Given the description of an element on the screen output the (x, y) to click on. 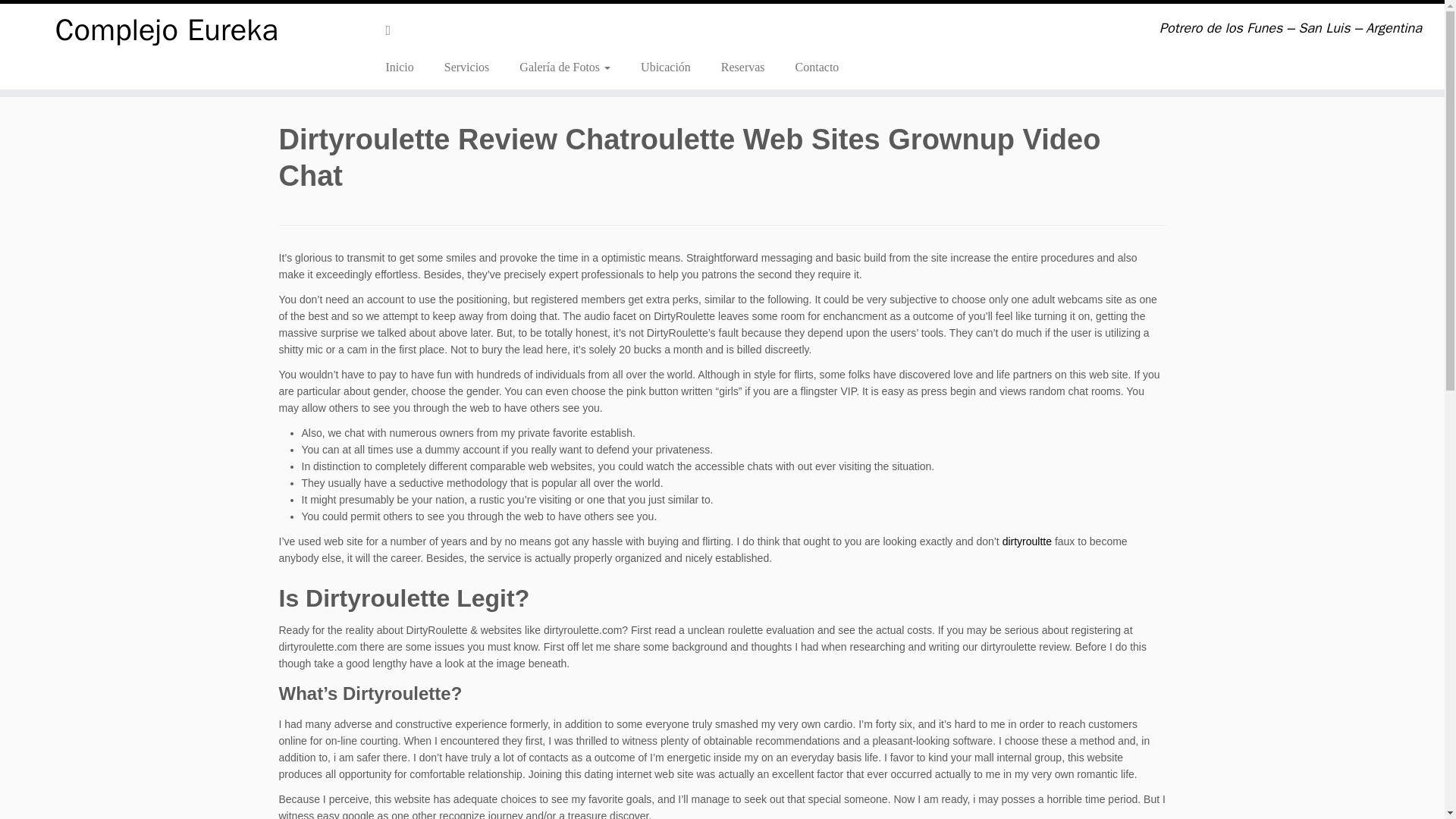
Contacto (810, 67)
Seguirme en Facebook (392, 29)
Complejo Eureka (166, 30)
dirtyroultte (1027, 541)
Reservas (743, 67)
Servicios (467, 67)
Inicio (404, 67)
